Given the description of an element on the screen output the (x, y) to click on. 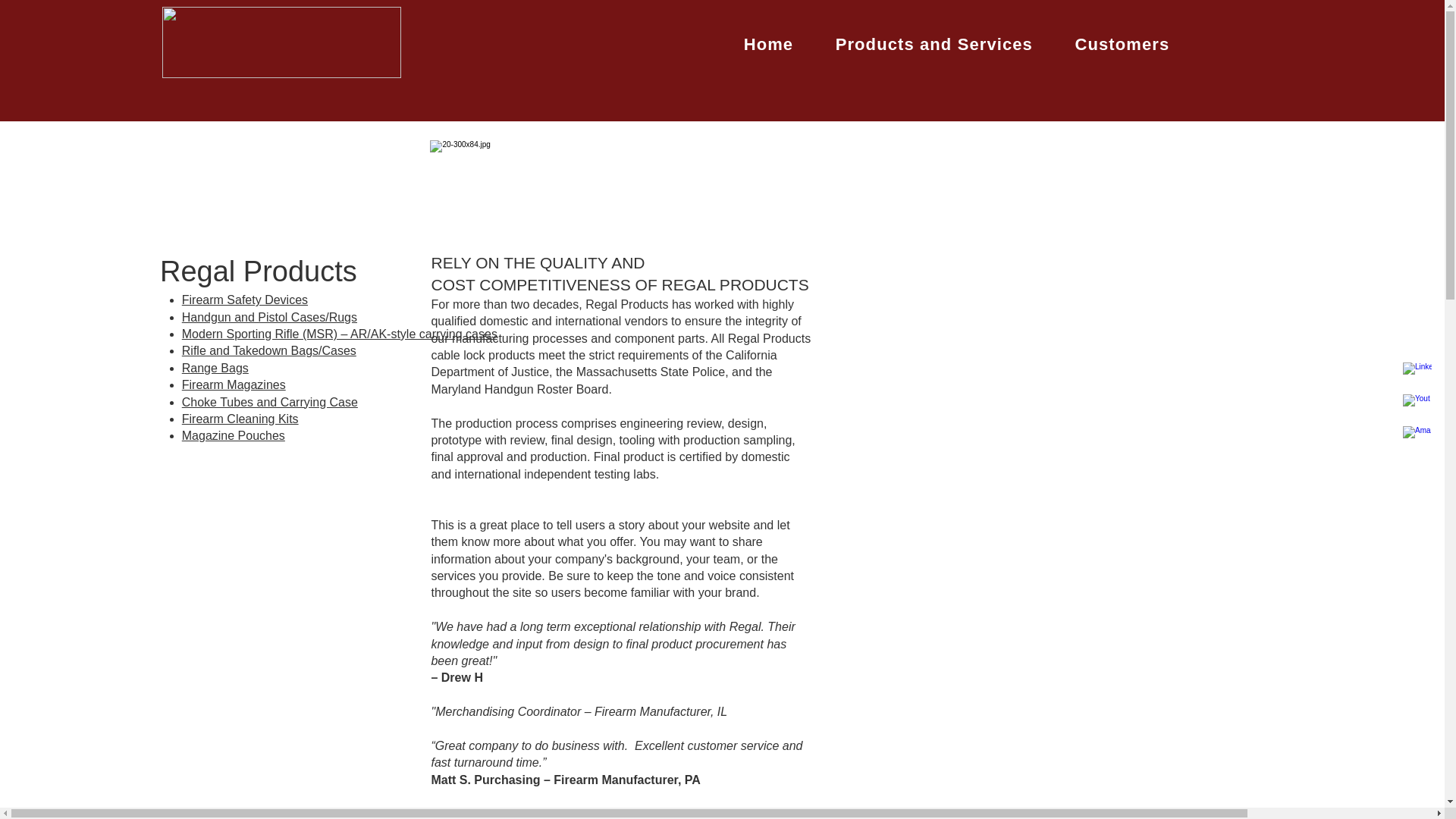
Choke Tubes and Carrying Case (270, 401)
Firearm Magazines (233, 384)
Home (767, 44)
Firearm Cleaning Kits (240, 418)
Magazine Pouches (233, 435)
Range Bags (215, 367)
Firearm Safety Devices (244, 299)
